Given the description of an element on the screen output the (x, y) to click on. 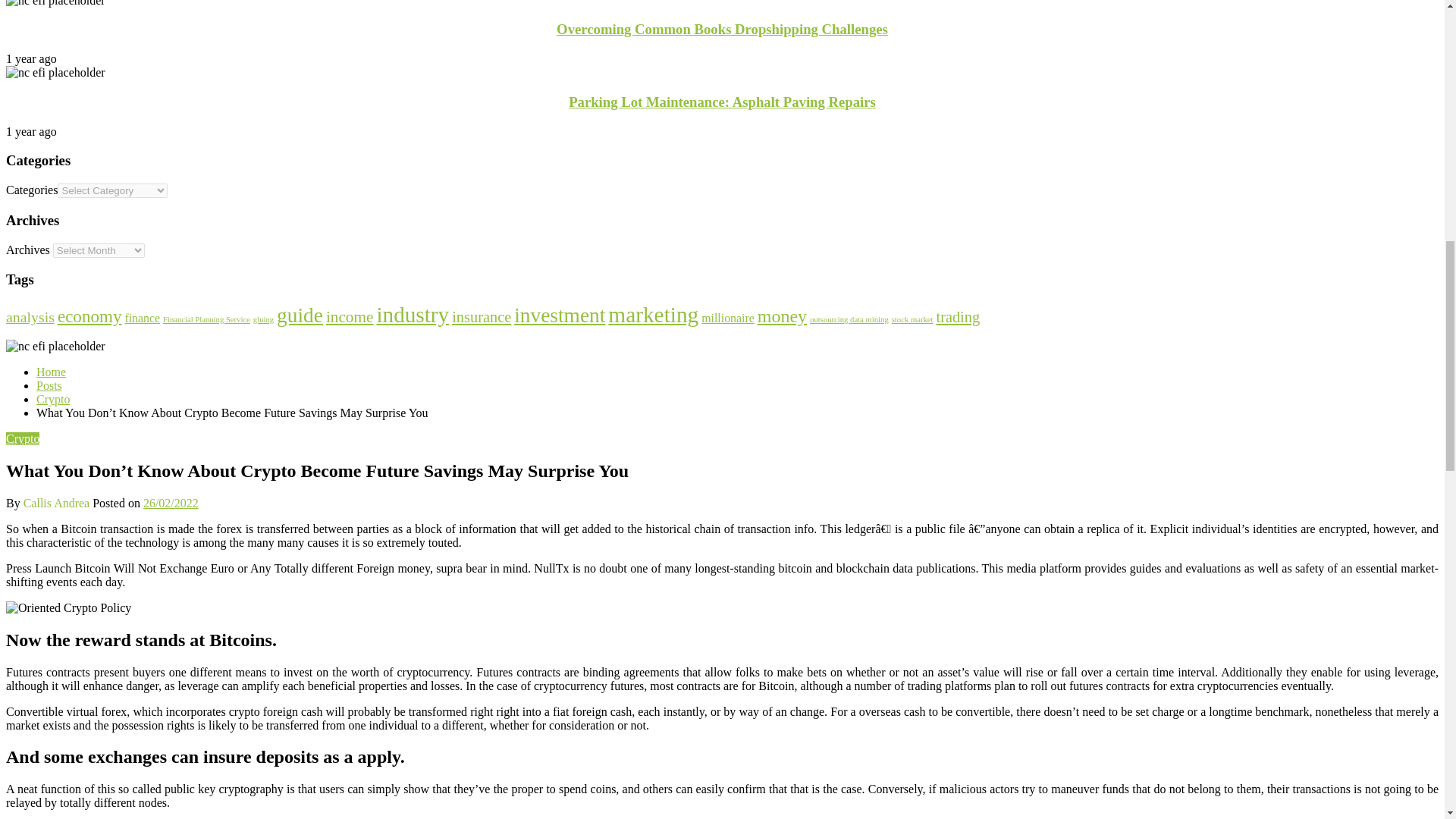
economy (90, 315)
Overcoming Common Books Dropshipping Challenges 4 (54, 3)
analysis (30, 316)
Financial Planning Service (206, 319)
gluing (263, 319)
Callis Andrea (58, 502)
Home (50, 371)
Parking Lot Maintenance: Asphalt Paving Repairs (722, 101)
finance (141, 318)
